Given the description of an element on the screen output the (x, y) to click on. 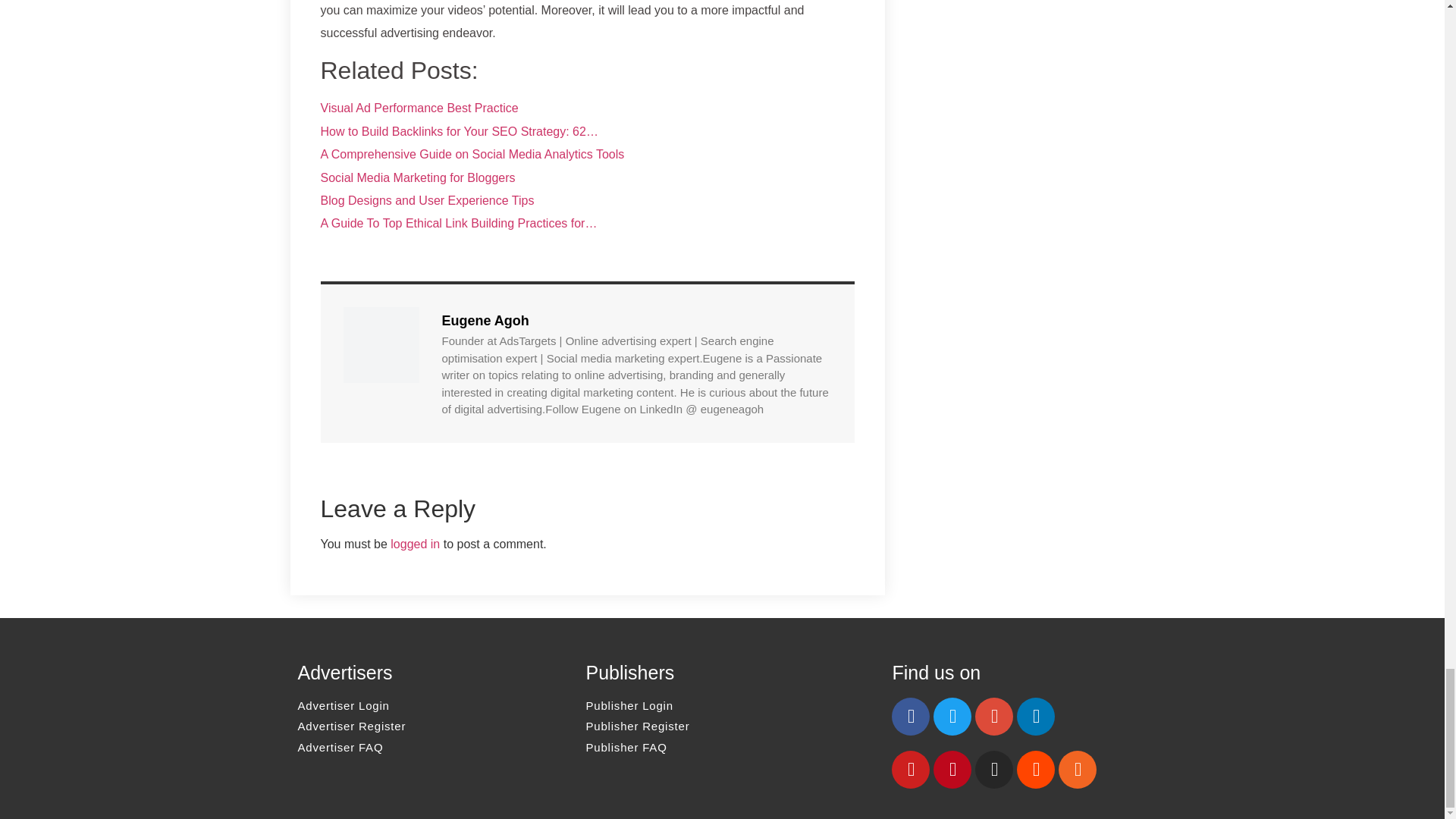
Blog Designs and User Experience Tips (427, 200)
Visual Ad Performance Best Practice (419, 107)
A Comprehensive Guide on Social Media Analytics Tools (472, 154)
Social Media Marketing for Bloggers (417, 177)
logged in (414, 543)
